Given the description of an element on the screen output the (x, y) to click on. 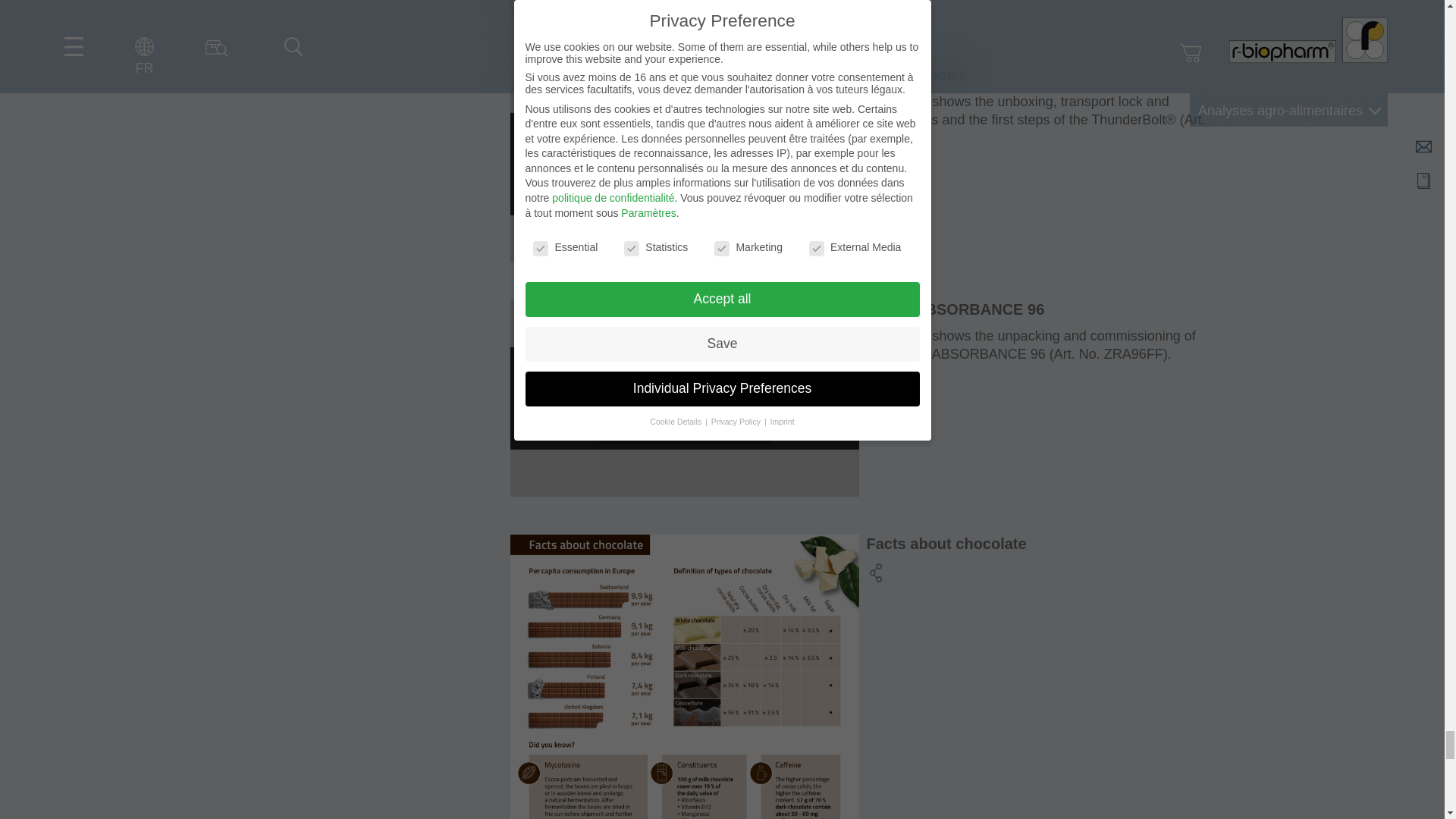
1 (631, 198)
1 (631, 433)
